Given the description of an element on the screen output the (x, y) to click on. 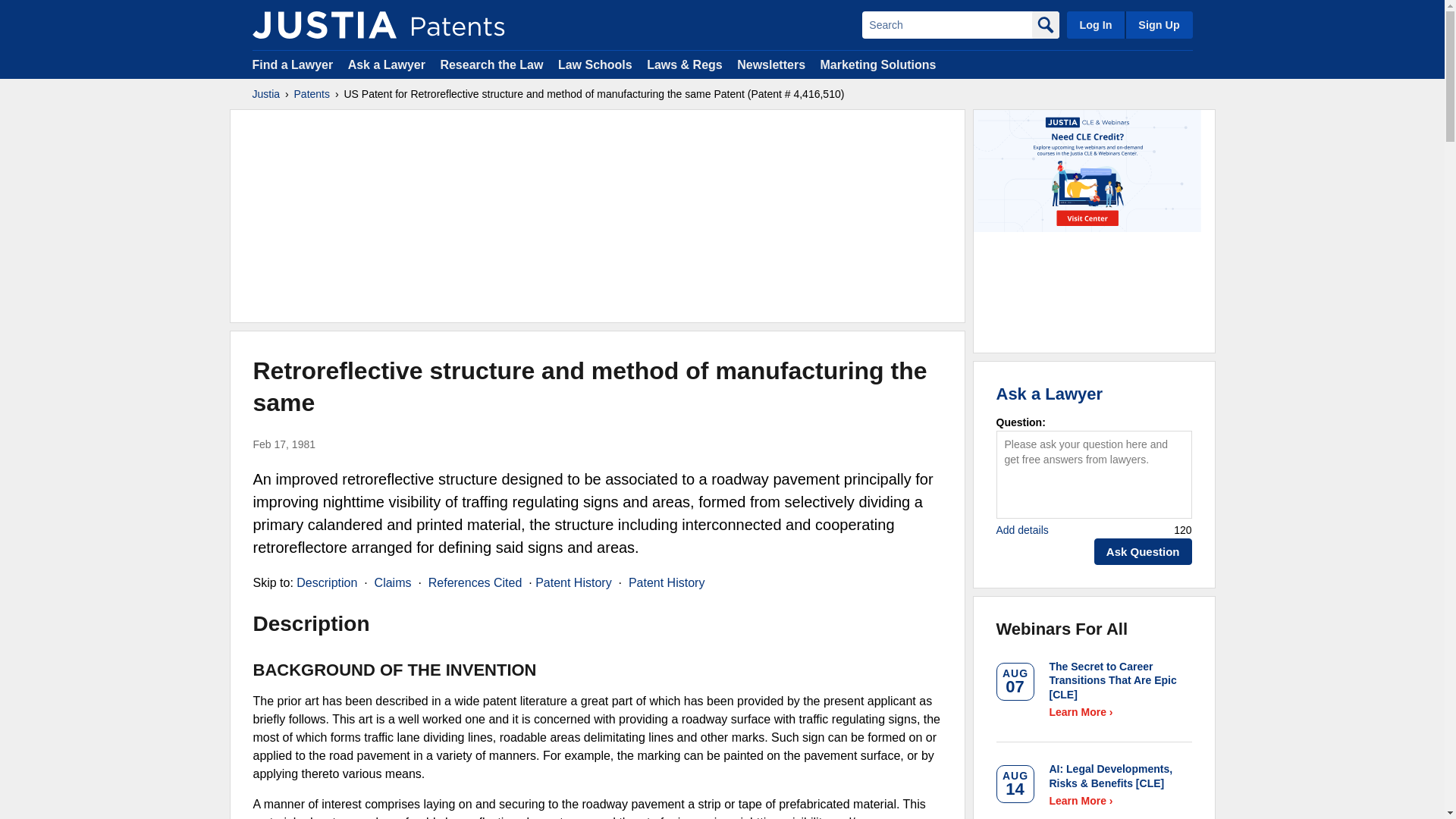
Description (326, 582)
Log In (1094, 24)
Sign Up (1158, 24)
Ask a Lawyer (386, 64)
Justia (265, 93)
Research the Law (491, 64)
Claims (393, 582)
Justia (323, 24)
Patent History (573, 582)
Patent History (666, 582)
Law Schools (594, 64)
Find a Lawyer (292, 64)
Newsletters (770, 64)
